Given the description of an element on the screen output the (x, y) to click on. 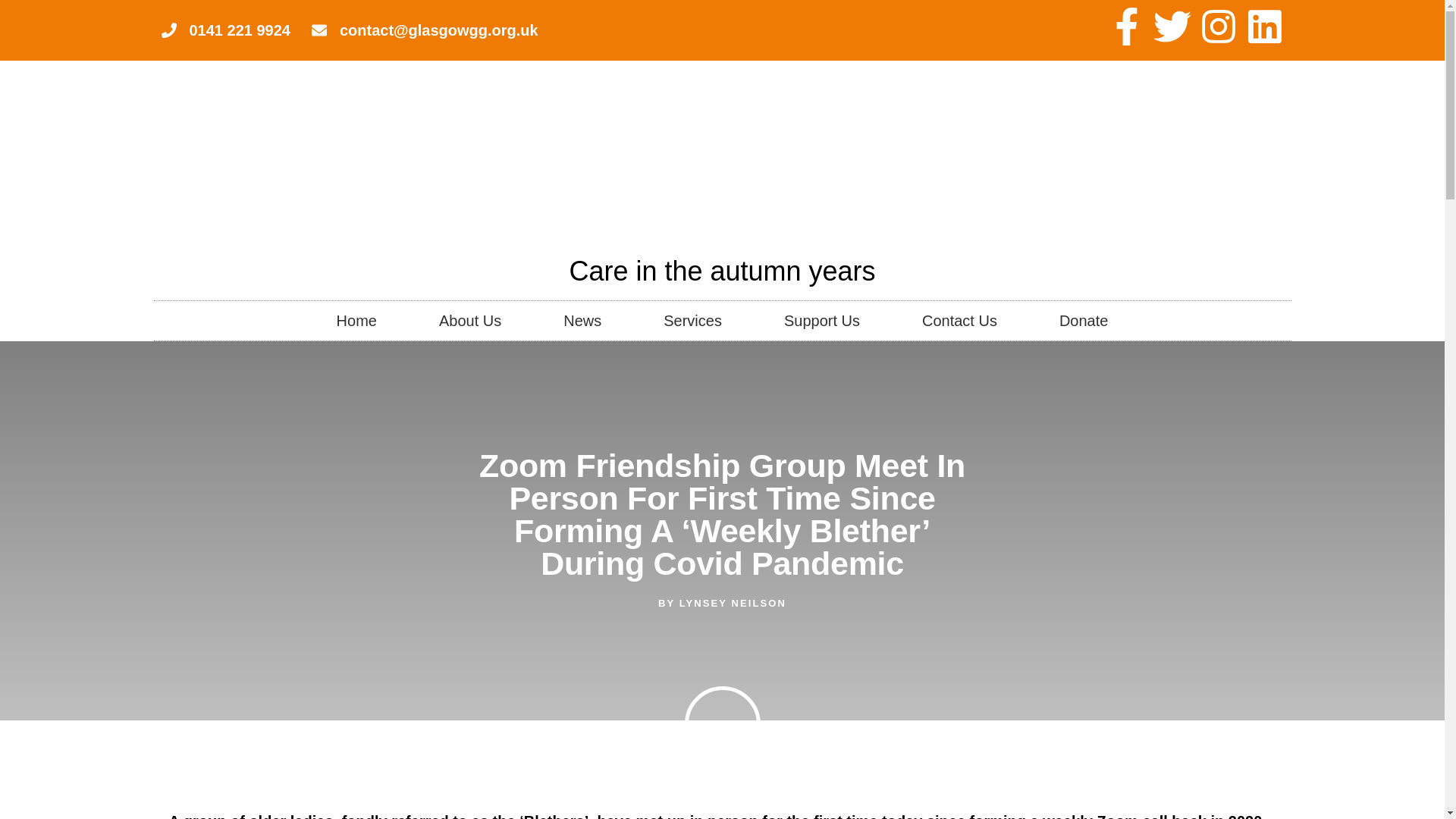
Home (356, 320)
0141 221 9924 (224, 30)
Contact Us (959, 320)
News (581, 320)
Services (691, 320)
Donate (1083, 320)
Support Us (821, 320)
About Us (469, 320)
